Given the description of an element on the screen output the (x, y) to click on. 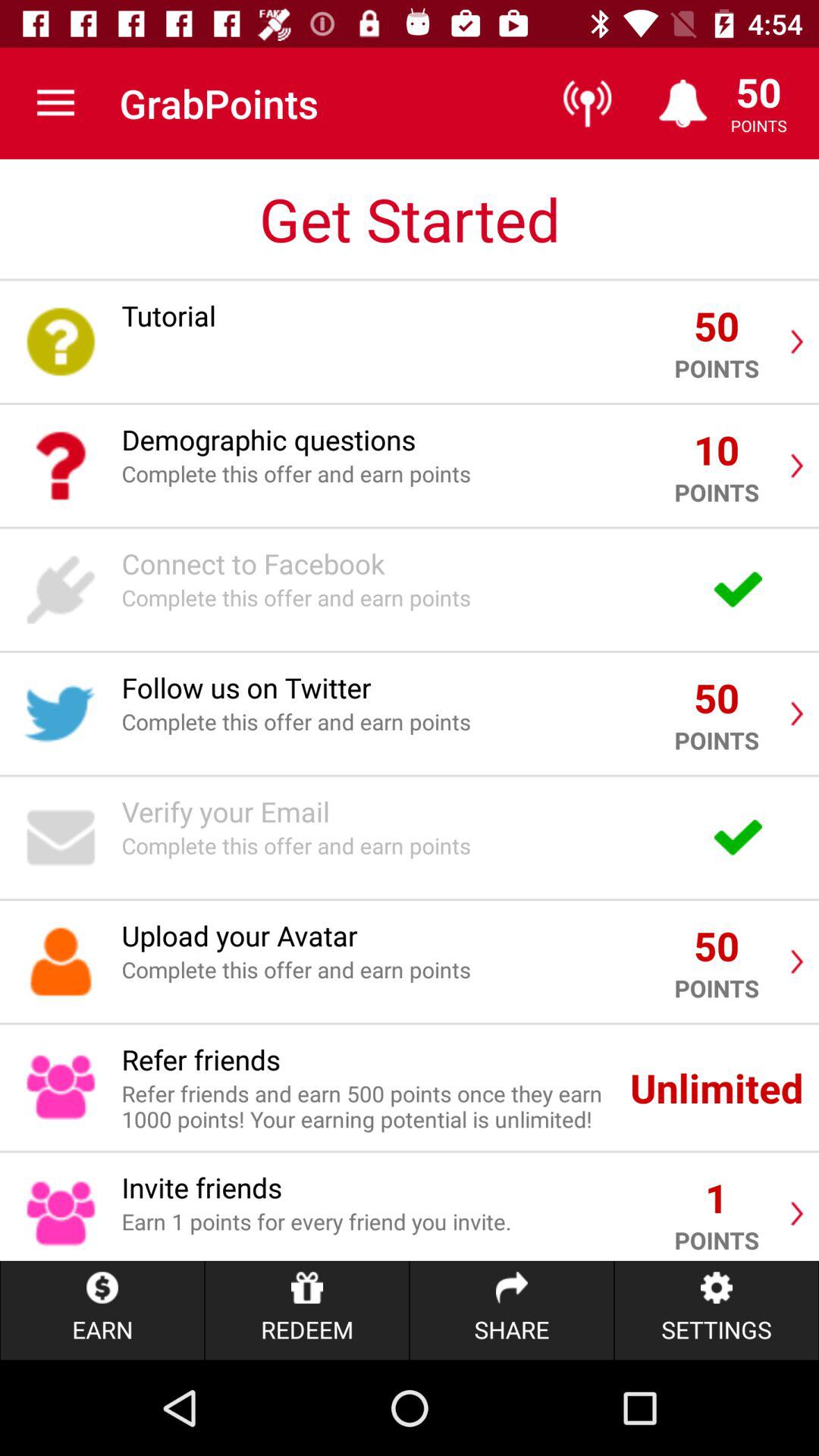
press item below points item (716, 1310)
